Given the description of an element on the screen output the (x, y) to click on. 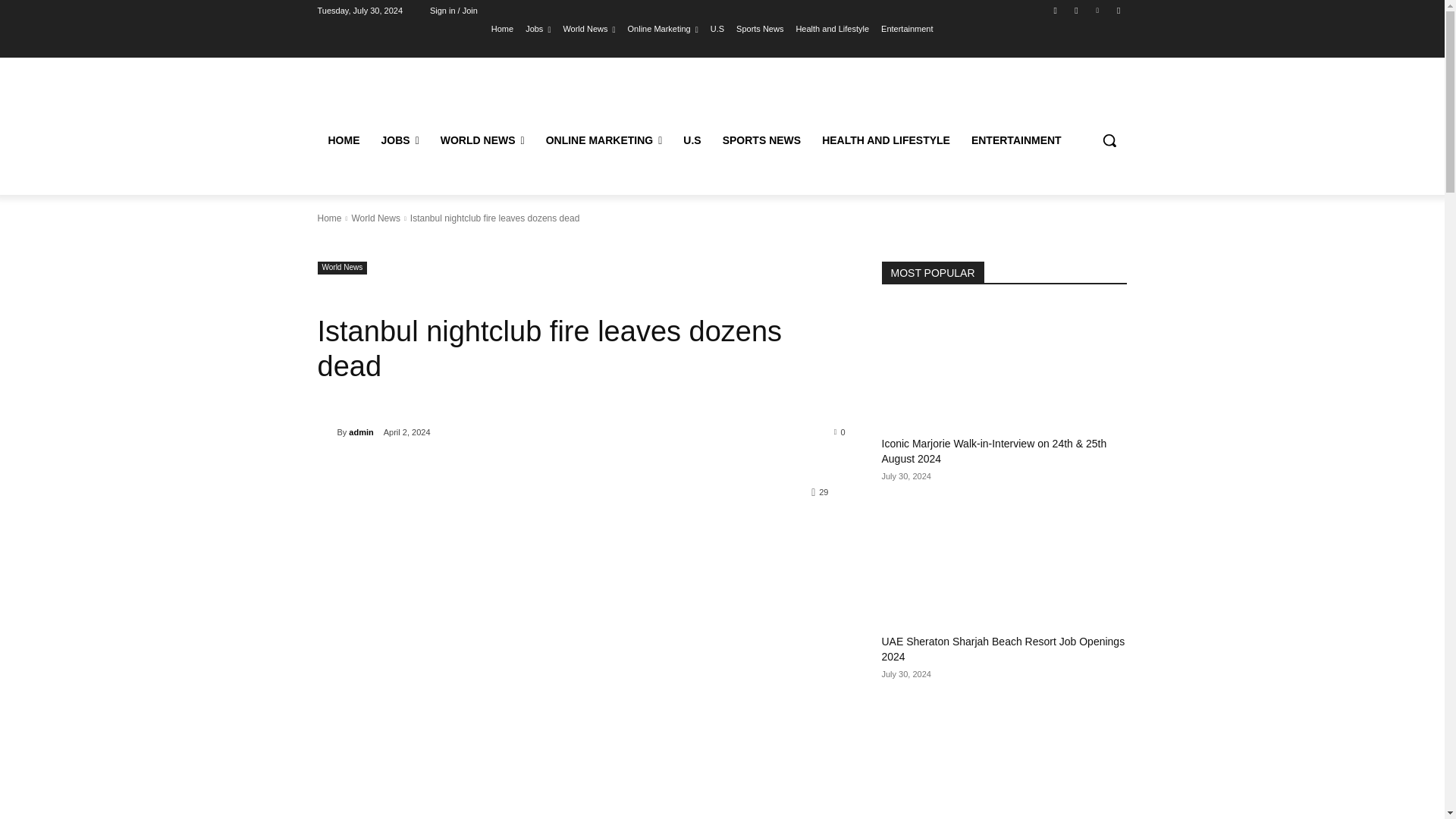
Facebook (1055, 9)
Youtube (1117, 9)
View all posts in World News (374, 217)
Jobs (537, 28)
admin (326, 432)
Linkedin (1097, 9)
Instagram (1075, 9)
Home (502, 28)
